Given the description of an element on the screen output the (x, y) to click on. 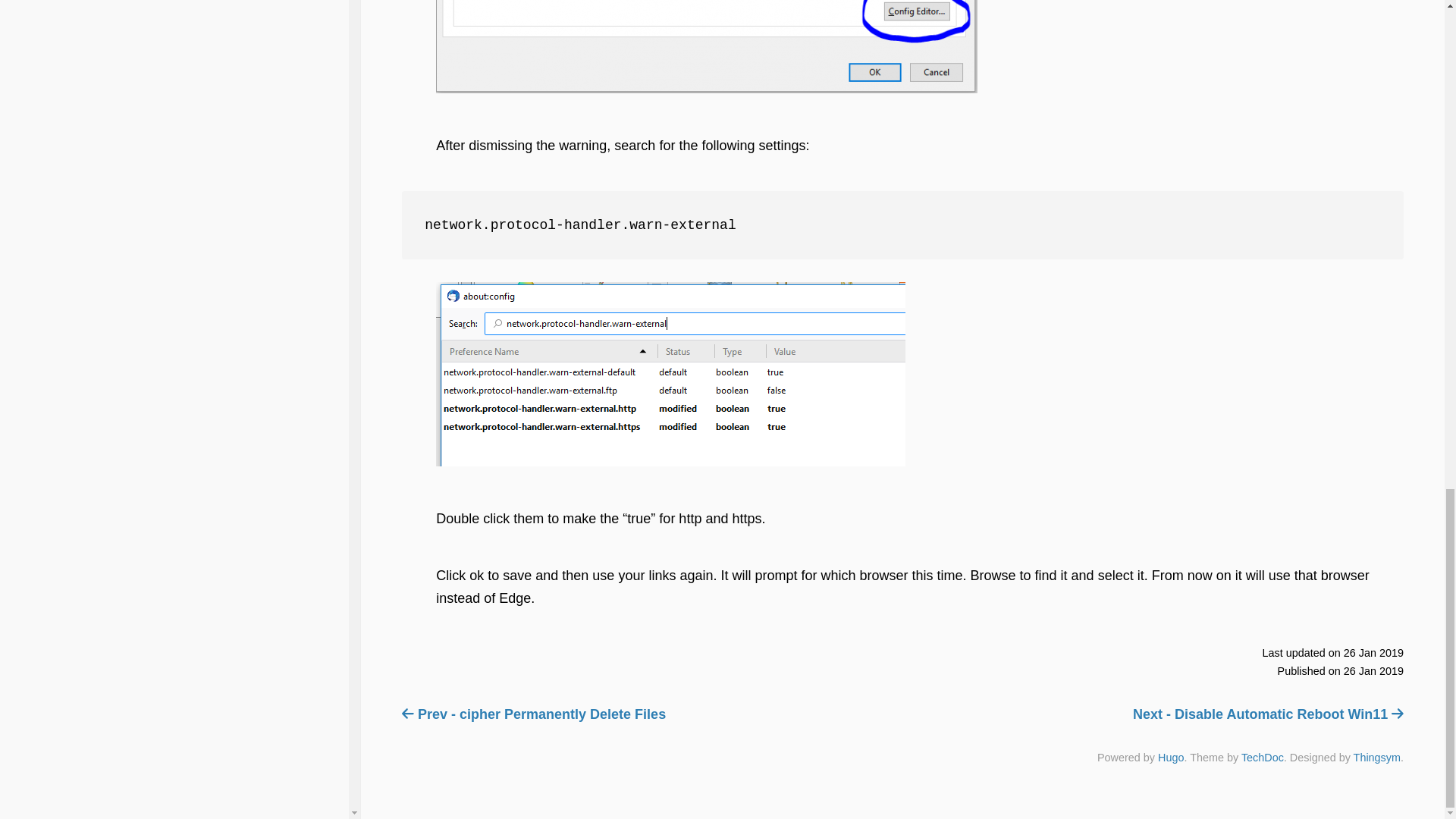
Thingsym (1377, 757)
Next - Disable Automatic Reboot Win11 (1267, 713)
Disable Automatic Reboot Win11 (1267, 713)
TechDoc (1262, 757)
 Prev - cipher Permanently Delete Files (533, 713)
Hugo (1170, 757)
cipher Permanently Delete Files (533, 713)
